Given the description of an element on the screen output the (x, y) to click on. 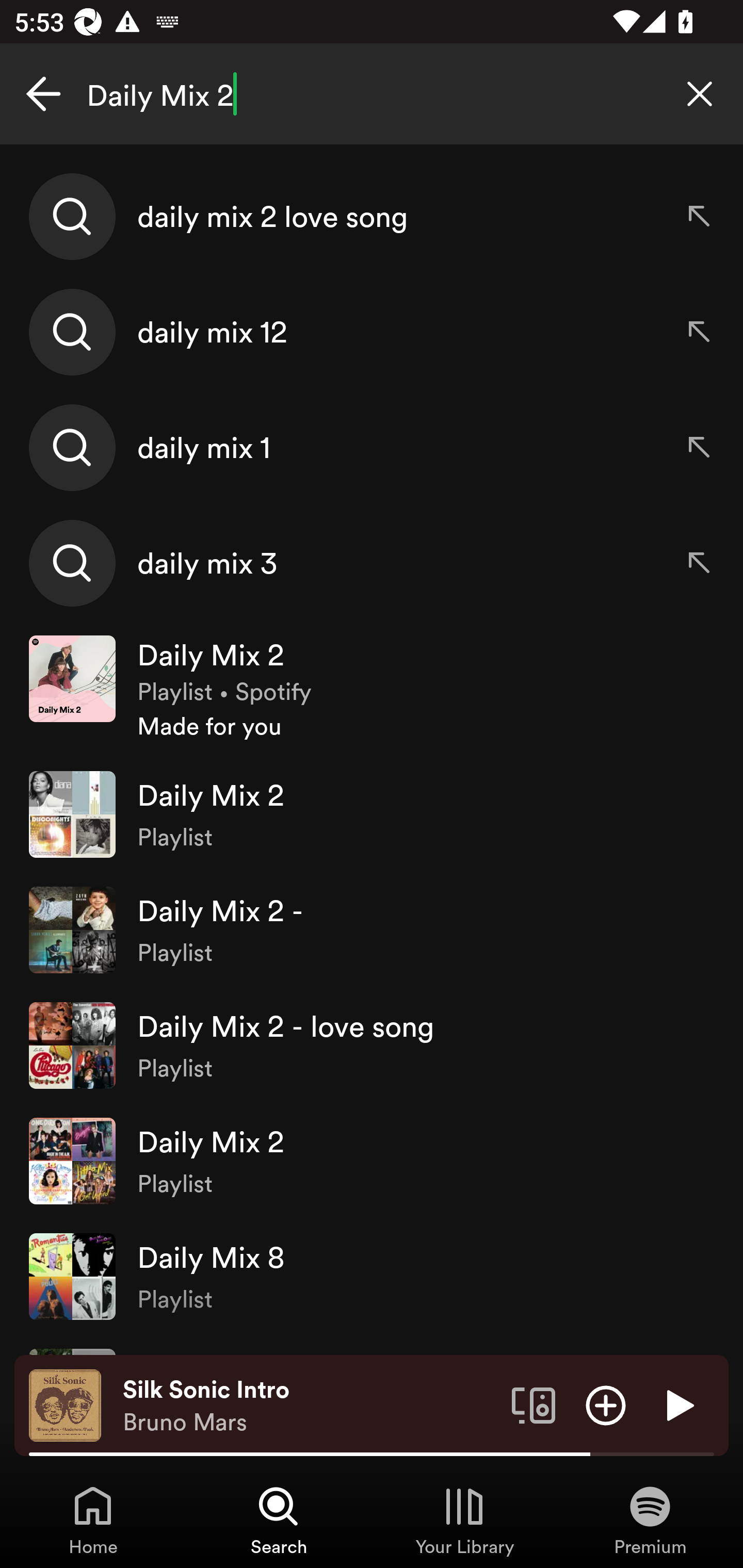
Daily Mix 2 (371, 93)
Cancel (43, 93)
Clear search query (699, 93)
daily mix 2 love song (371, 216)
daily mix 12 (371, 332)
daily mix 1 (371, 447)
daily mix 3 (371, 562)
Daily Mix 2 Playlist • Spotify Made for you (371, 688)
Daily Mix 2 Playlist (371, 814)
Daily Mix 2 - Playlist (371, 929)
Daily Mix 2 - love song Playlist (371, 1045)
Daily Mix 2  Playlist (371, 1160)
Daily Mix 8 Playlist (371, 1276)
Silk Sonic Intro Bruno Mars (309, 1405)
The cover art of the currently playing track (64, 1404)
Connect to a device. Opens the devices menu (533, 1404)
Add item (605, 1404)
Play (677, 1404)
Home, Tab 1 of 4 Home Home (92, 1519)
Search, Tab 2 of 4 Search Search (278, 1519)
Your Library, Tab 3 of 4 Your Library Your Library (464, 1519)
Premium, Tab 4 of 4 Premium Premium (650, 1519)
